Given the description of an element on the screen output the (x, y) to click on. 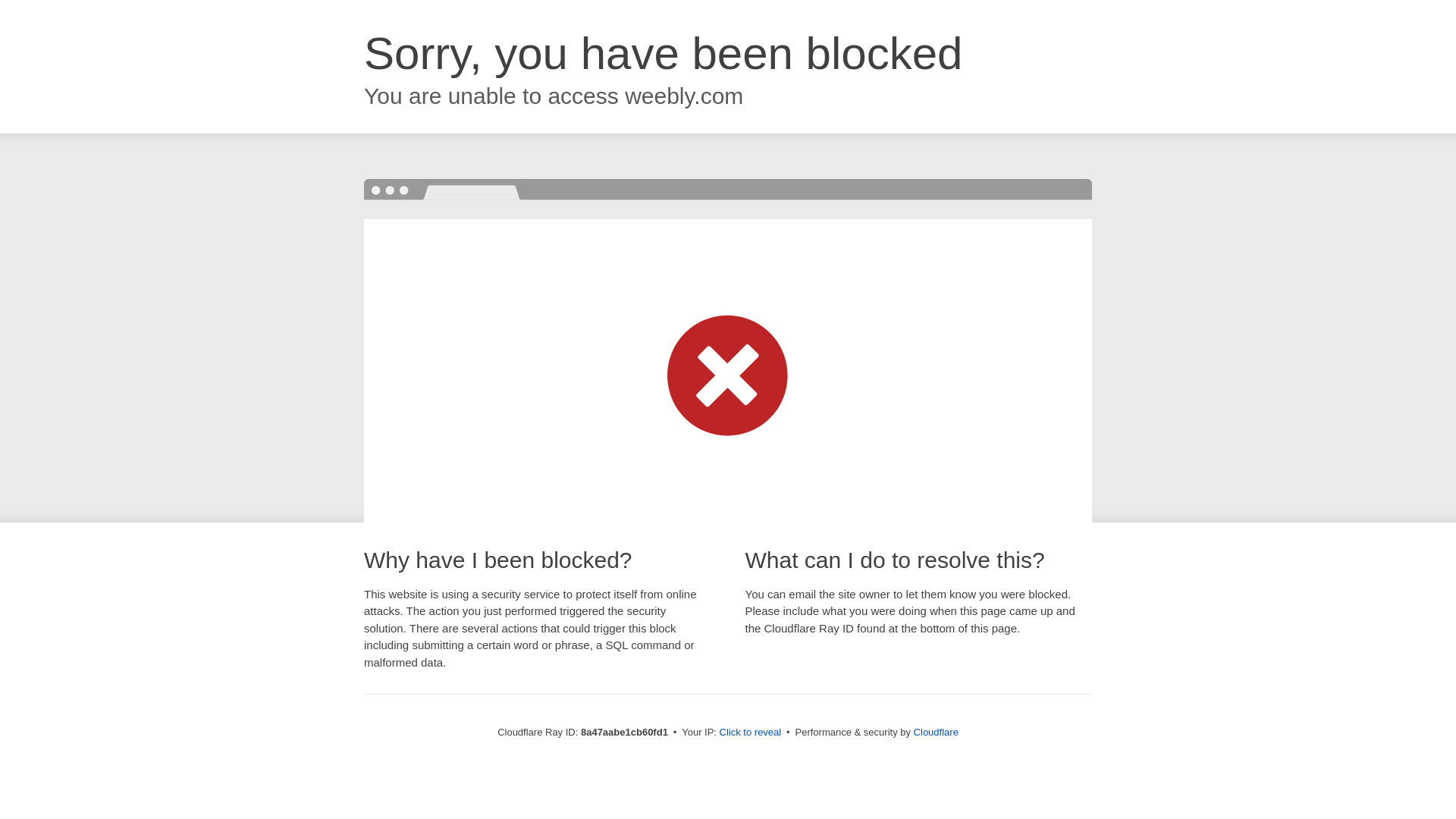
Click to reveal (750, 732)
Cloudflare (936, 731)
